Given the description of an element on the screen output the (x, y) to click on. 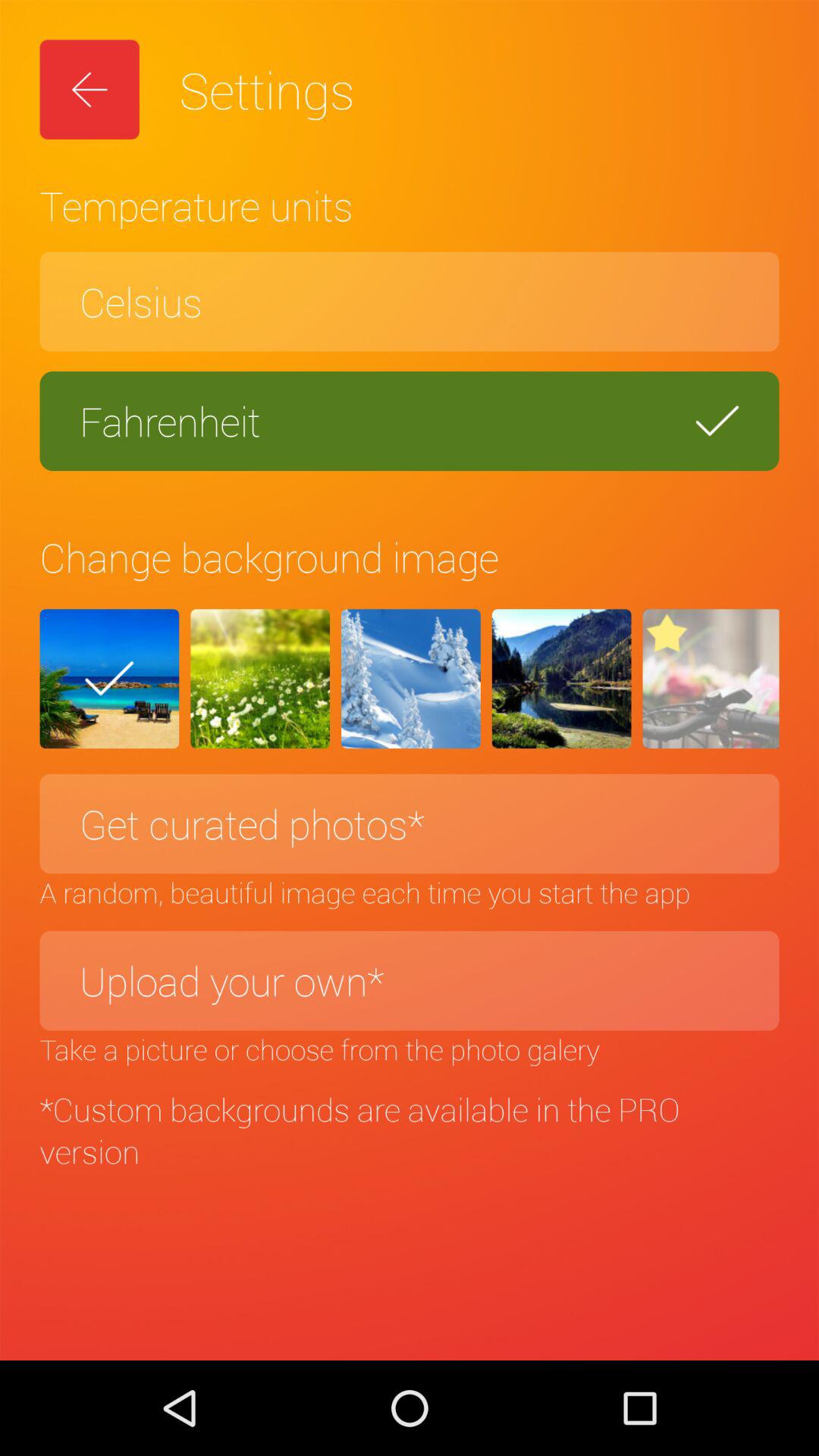
press the icon above temperature units icon (89, 89)
